Given the description of an element on the screen output the (x, y) to click on. 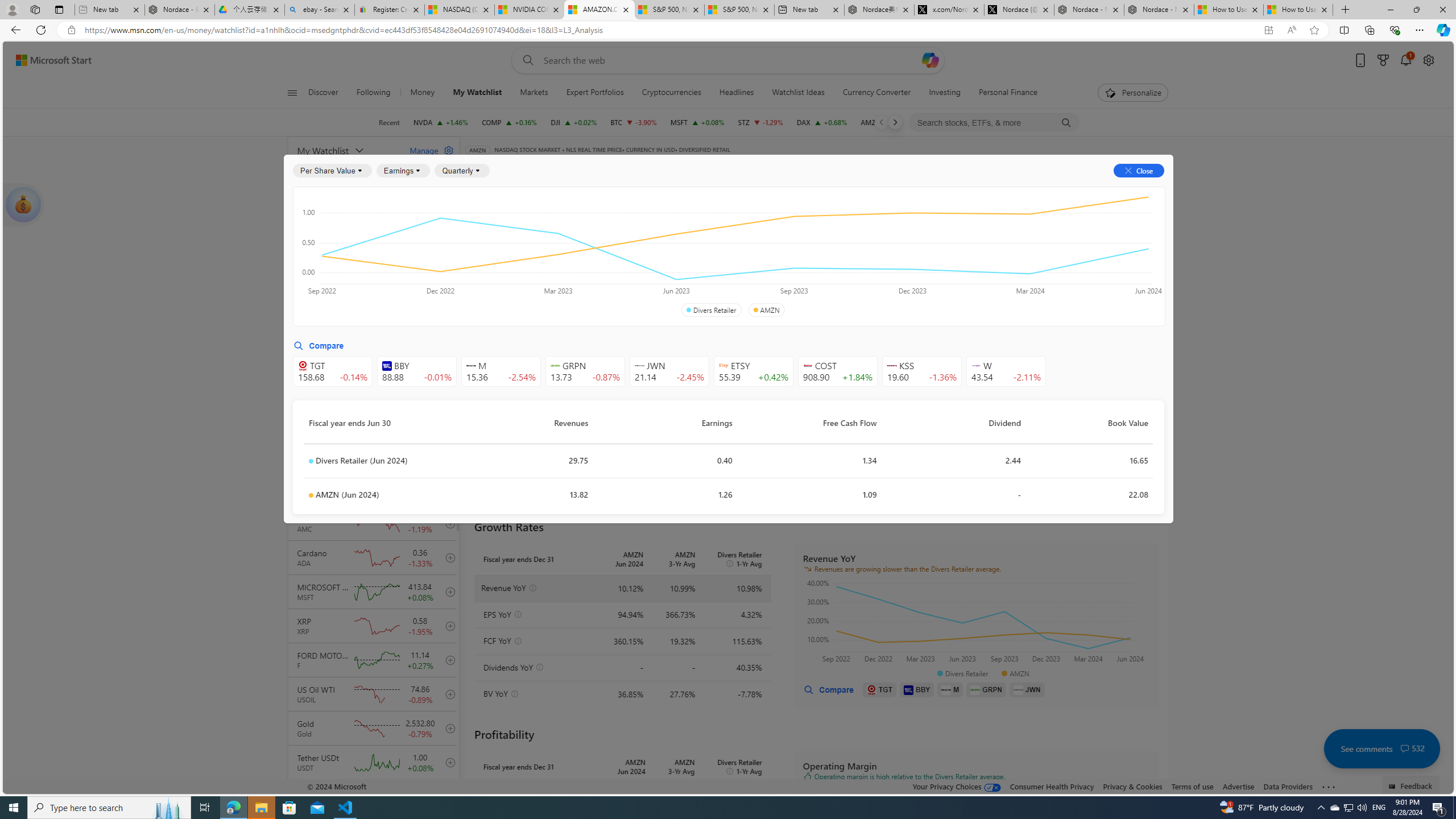
Notifications (1405, 60)
Search stocks, ETFs, & more (995, 122)
Browser essentials (1394, 29)
My Watchlist (477, 92)
Privacy & Cookies (1131, 786)
ebay - Search (319, 9)
Recent (389, 121)
DJI DOW increase 41,250.50 +9.98 +0.02% (573, 122)
Annual (491, 286)
M (950, 689)
Expert Portfolios (595, 92)
MSFT MICROSOFT CORPORATION increase 413.84 +0.35 +0.08% (696, 122)
Nordace (@NordaceOfficial) / X (1018, 9)
Headlines (736, 92)
